Given the description of an element on the screen output the (x, y) to click on. 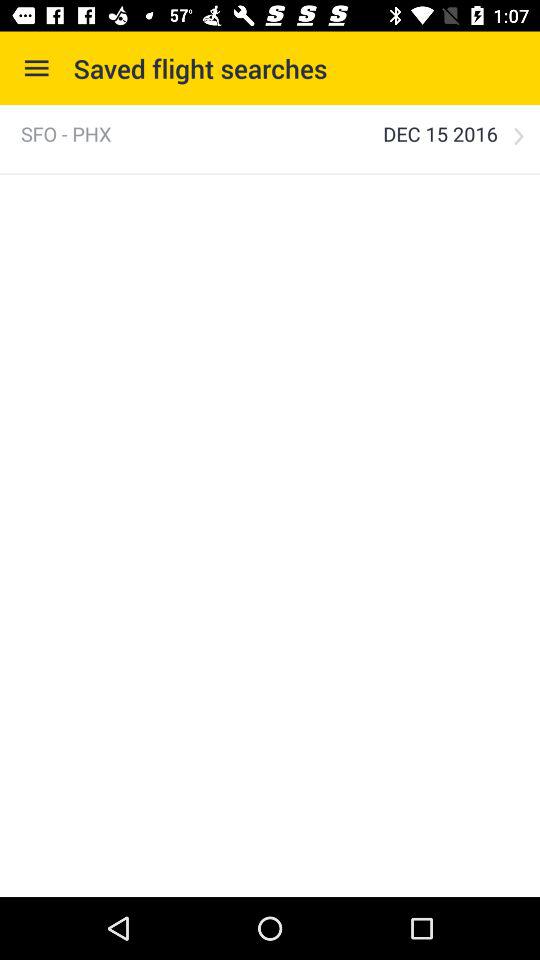
press the item to the left of the dec 15 2016 (66, 133)
